Given the description of an element on the screen output the (x, y) to click on. 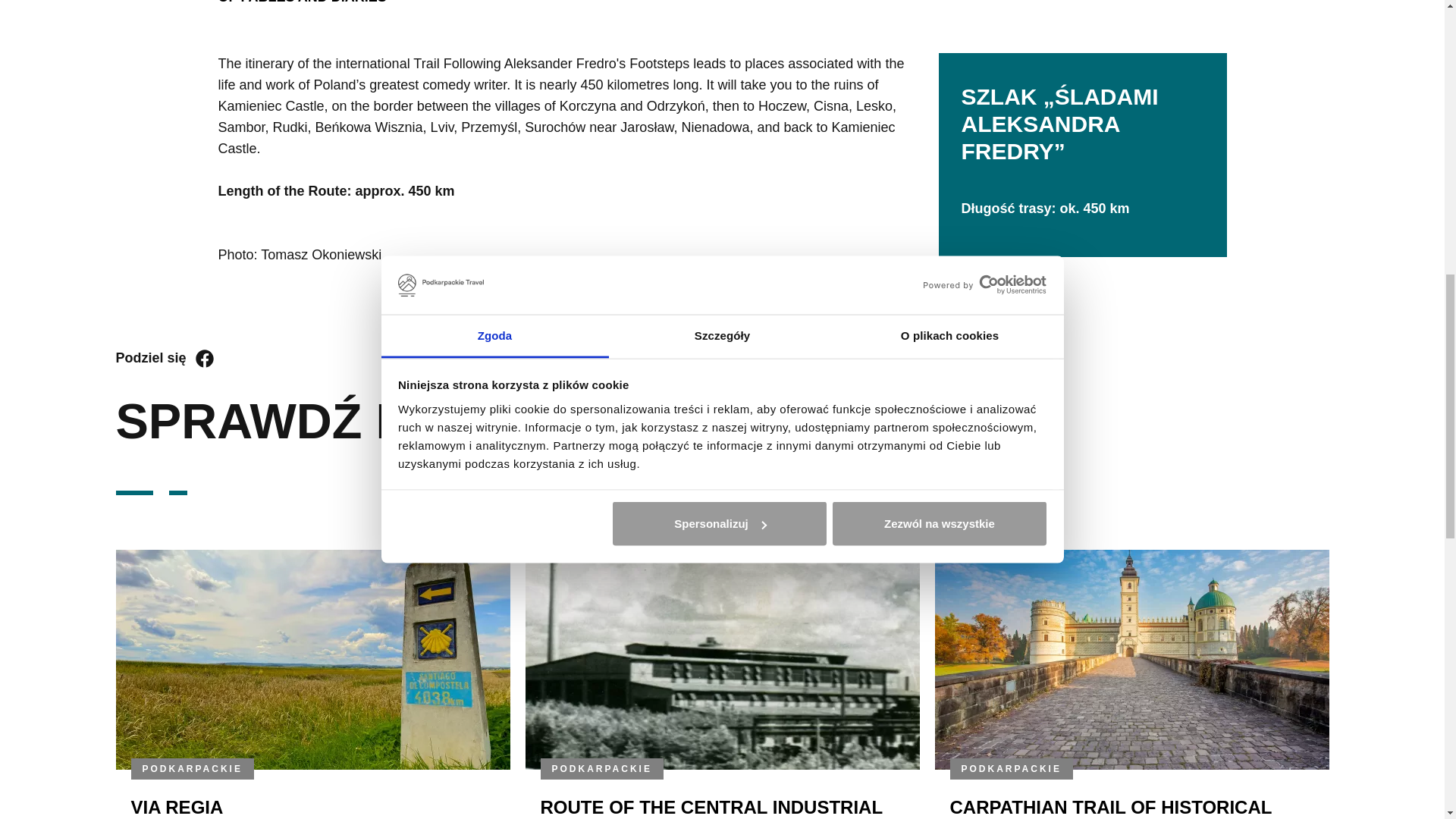
VIA REGIA (176, 806)
Route of the Central Industrial Region (711, 807)
Podkarpackie (1010, 768)
Podkarpackie (601, 768)
Carpathian Trail of Historical Houses and Gardens (1110, 807)
Podkarpackie (192, 768)
